Given the description of an element on the screen output the (x, y) to click on. 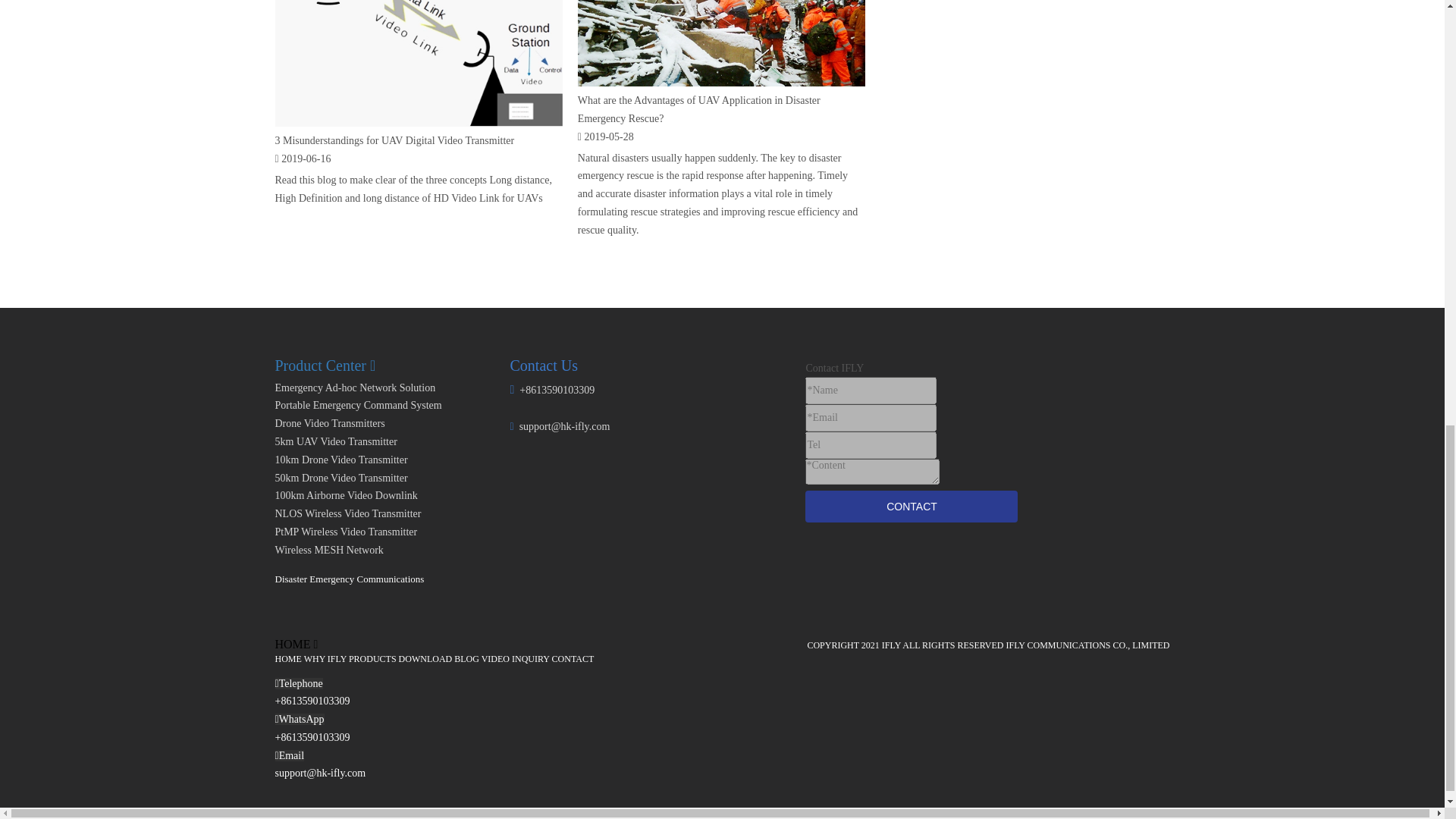
3 Misunderstandings for UAV Digital Video Transmitter (394, 140)
Emergency Ad-hoc Network Solution (355, 387)
Drone Video Transmitters (329, 423)
Portable Emergency Command System (358, 405)
5km UAV Video Transmitter (335, 441)
